Given the description of an element on the screen output the (x, y) to click on. 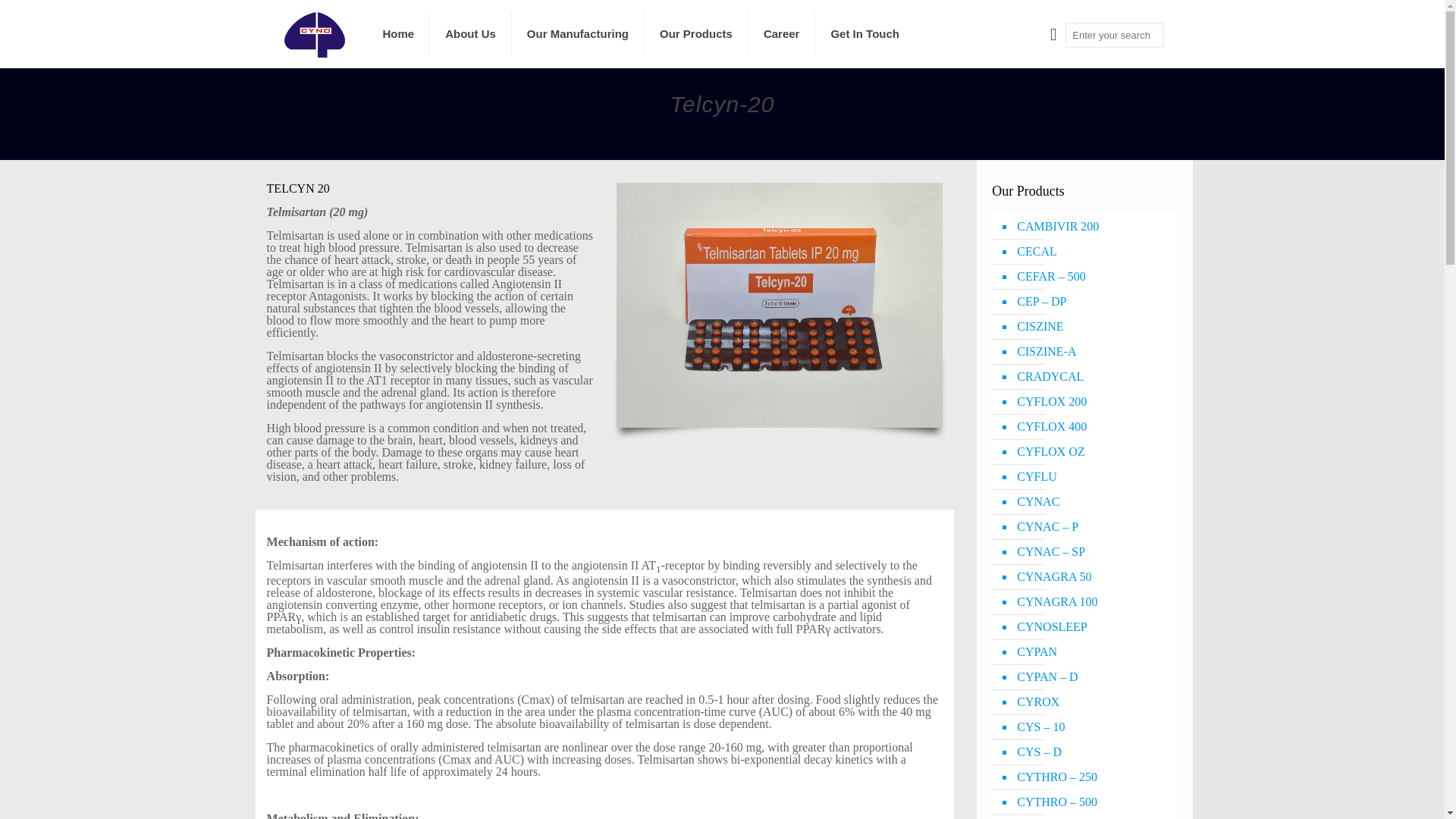
CYNOSLEEP (1091, 627)
CECAL (1091, 251)
CAMBIVIR 200 (1091, 226)
Our Products (696, 33)
About Us (470, 33)
CYNO Pharmaceuticals (314, 33)
Home (679, 130)
Get In Touch (864, 33)
CYROX (1091, 702)
GEFCY-250 (1091, 816)
CYNAGRA 50 (1091, 577)
CISZINE-A (1091, 351)
CYFLOX 200 (1091, 401)
CRADYCAL (1091, 376)
CYPAN (1091, 652)
